Given the description of an element on the screen output the (x, y) to click on. 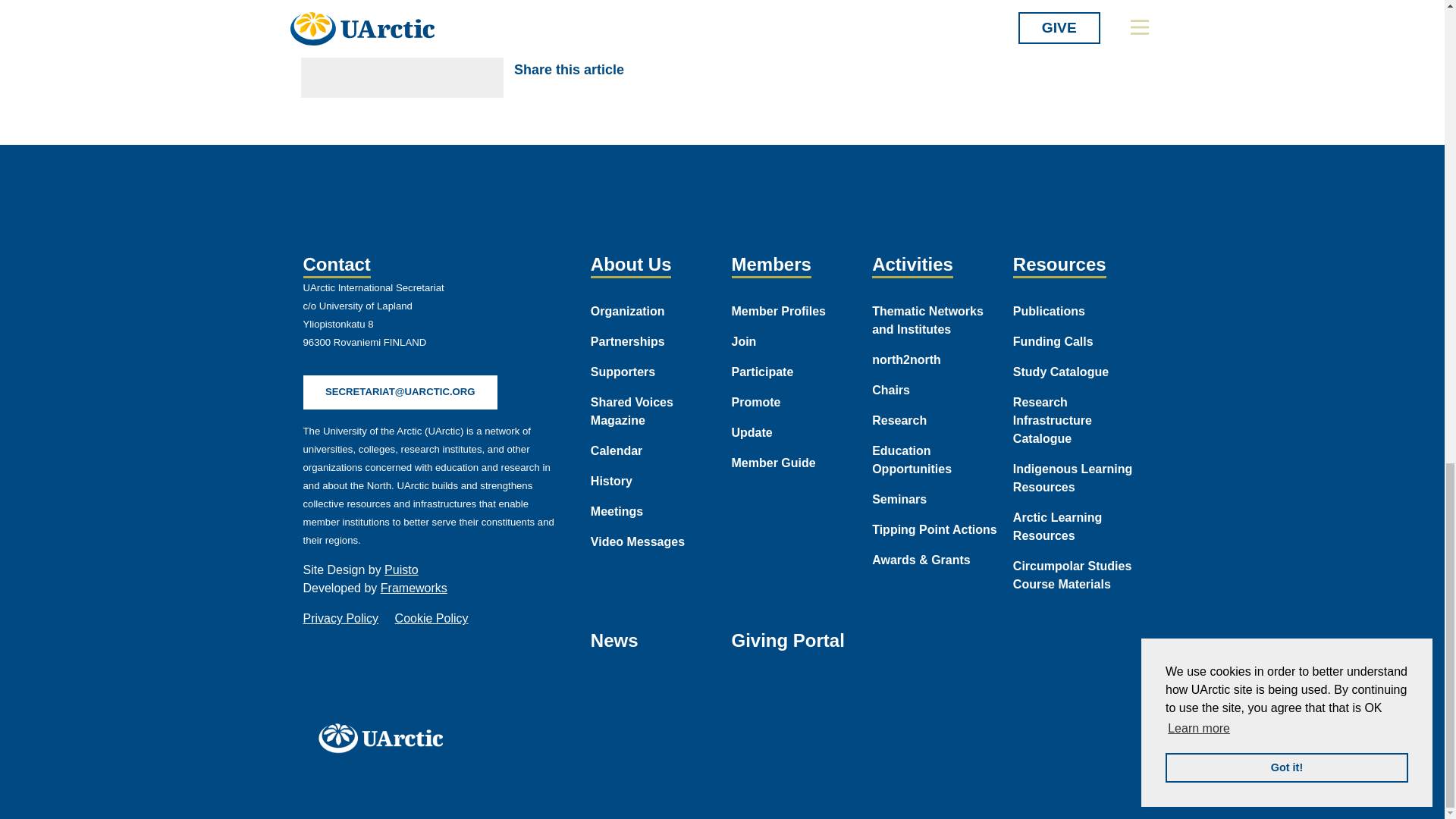
Cookie Policy (431, 617)
Privacy Policy (340, 617)
UArctic 2021 (385, 737)
Share on Facebook (650, 69)
Share on Twitter (686, 69)
